Given the description of an element on the screen output the (x, y) to click on. 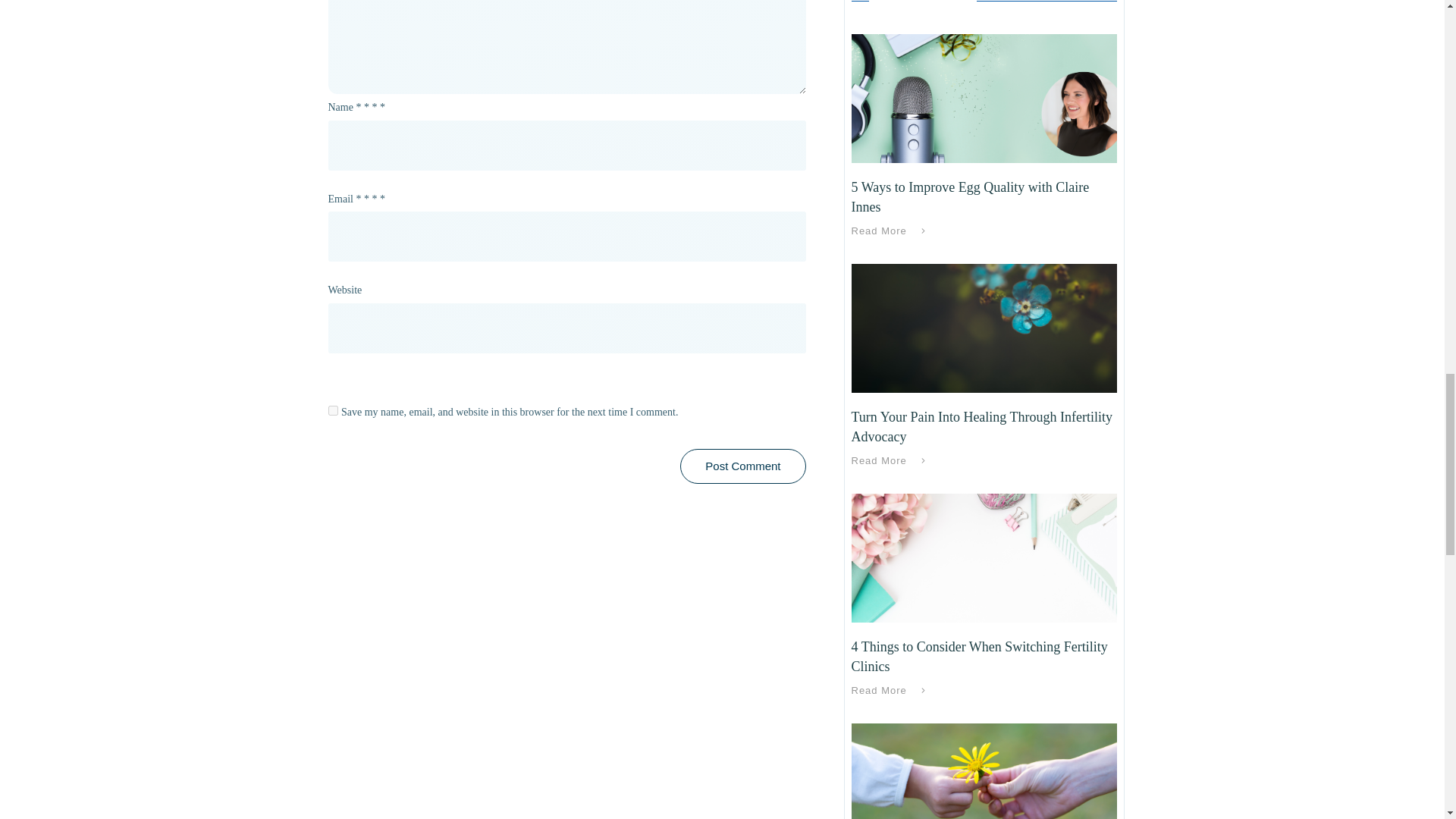
Post Comment (742, 466)
5 Ways to Improve Egg Quality with Claire Innes (969, 196)
Read More (890, 460)
Read More (890, 690)
4 Things to Consider When Switching Fertility Clinics (978, 656)
yes (332, 410)
4 Things to Consider When Switching Fertility Clinics (978, 656)
5 Ways to Improve Egg Quality with Claire Innes (969, 196)
Turn Your Pain Into Healing Through Infertility Advocacy (981, 426)
Read More (890, 230)
